Given the description of an element on the screen output the (x, y) to click on. 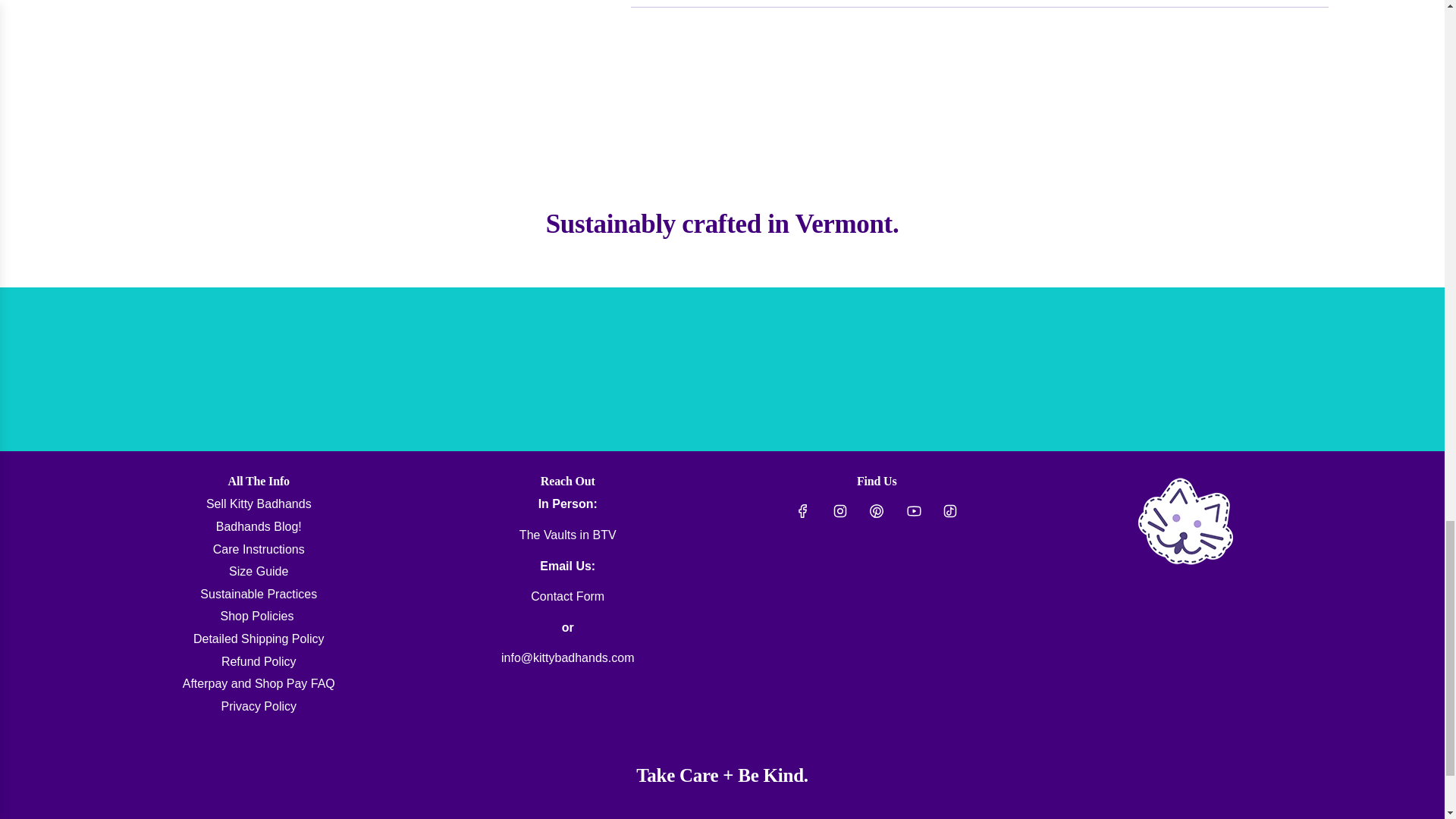
Our Location (567, 534)
Contact (567, 595)
